Given the description of an element on the screen output the (x, y) to click on. 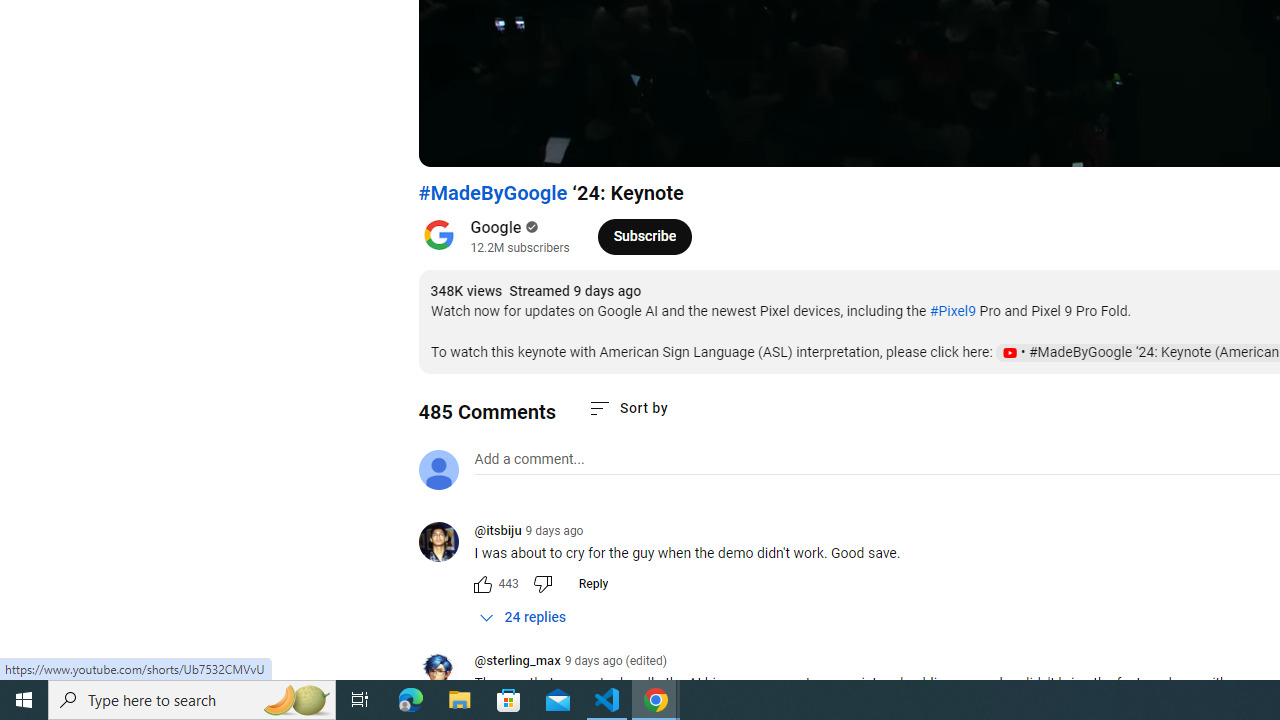
Mute (m) (548, 142)
Dislike this comment (542, 583)
AutomationID: simplebox-placeholder (528, 459)
#MadeByGoogle (493, 193)
@sterling_max (446, 673)
Play (k) (453, 142)
Verified (530, 227)
24 replies (522, 617)
9 days ago (edited) (615, 661)
